Given the description of an element on the screen output the (x, y) to click on. 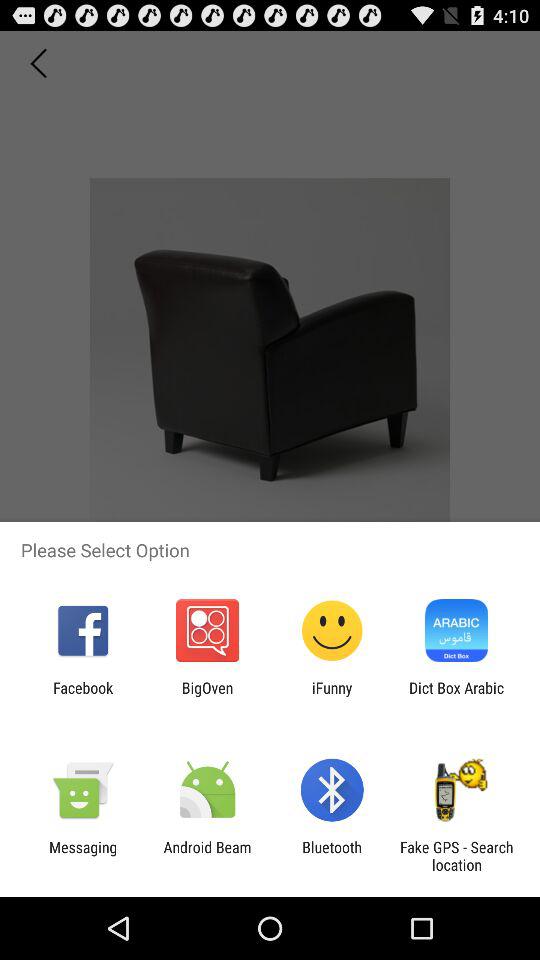
launch app to the left of android beam icon (83, 856)
